Given the description of an element on the screen output the (x, y) to click on. 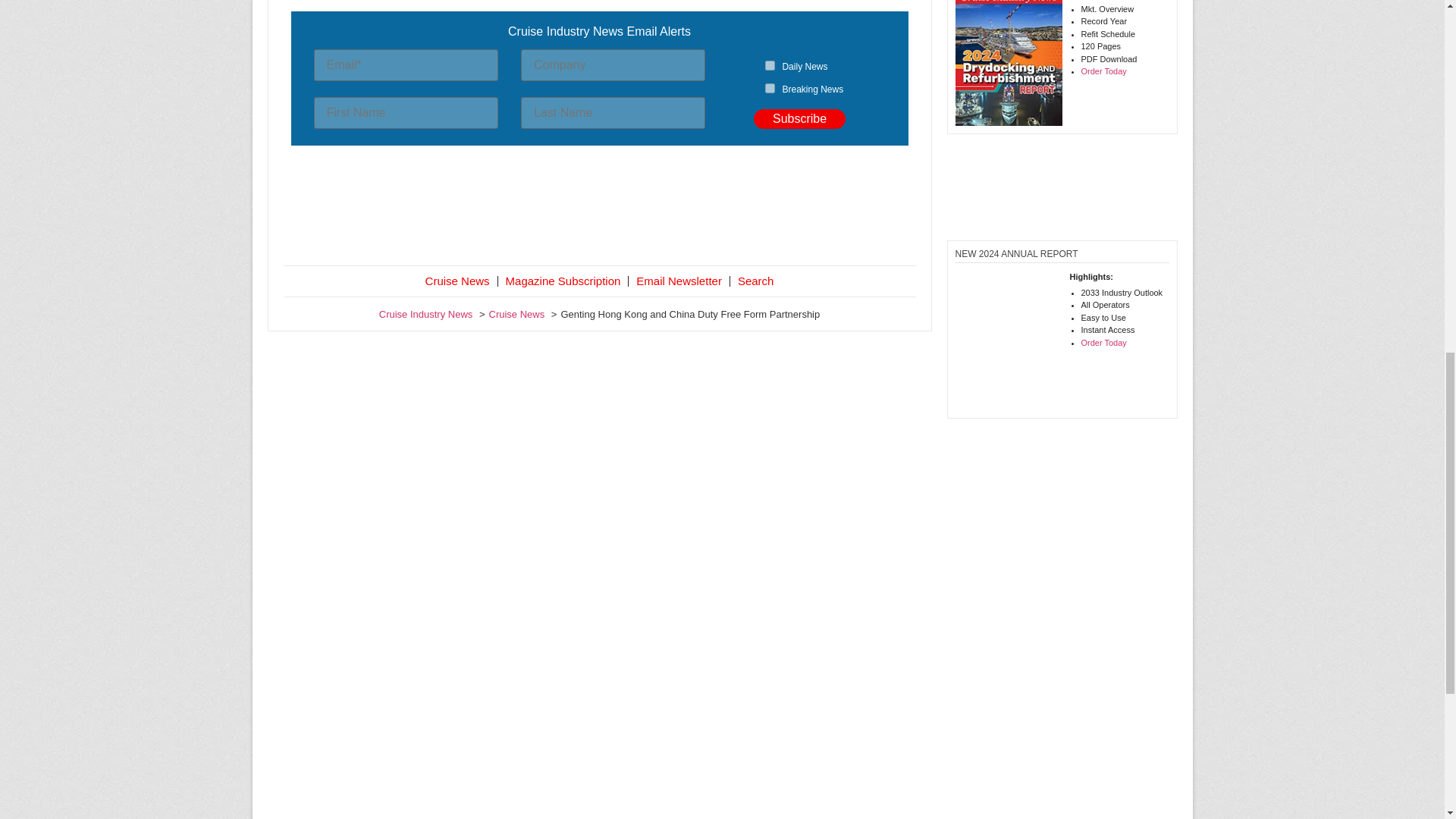
1 (769, 65)
Subscribe (799, 118)
2 (769, 88)
3rd party ad content (599, 208)
